Given the description of an element on the screen output the (x, y) to click on. 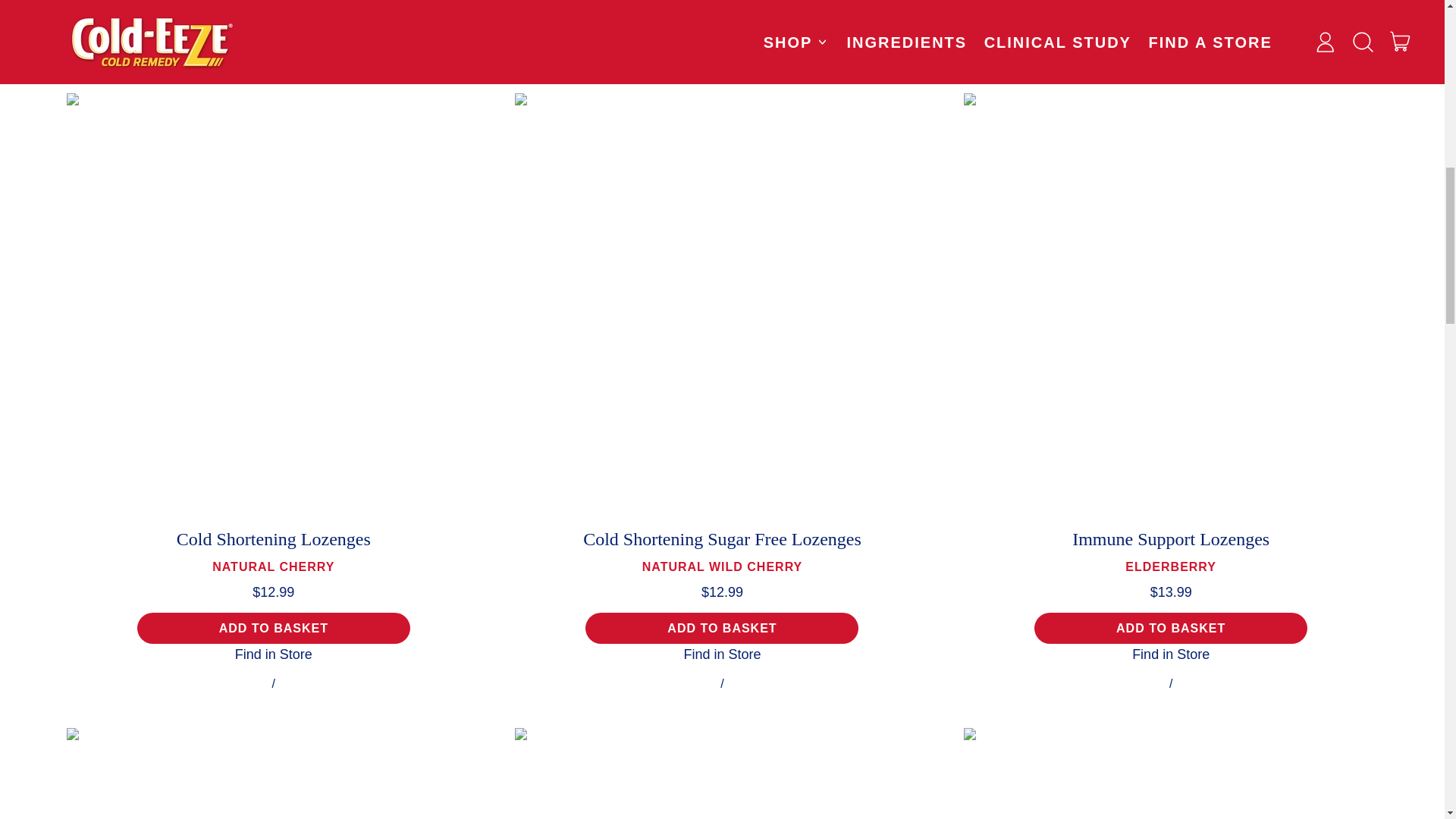
Find in Store (1170, 654)
Immune Support Lozenges (273, 773)
Find in Store (1170, 628)
Find in Store (273, 628)
Sort (273, 654)
Filter (721, 654)
